Given the description of an element on the screen output the (x, y) to click on. 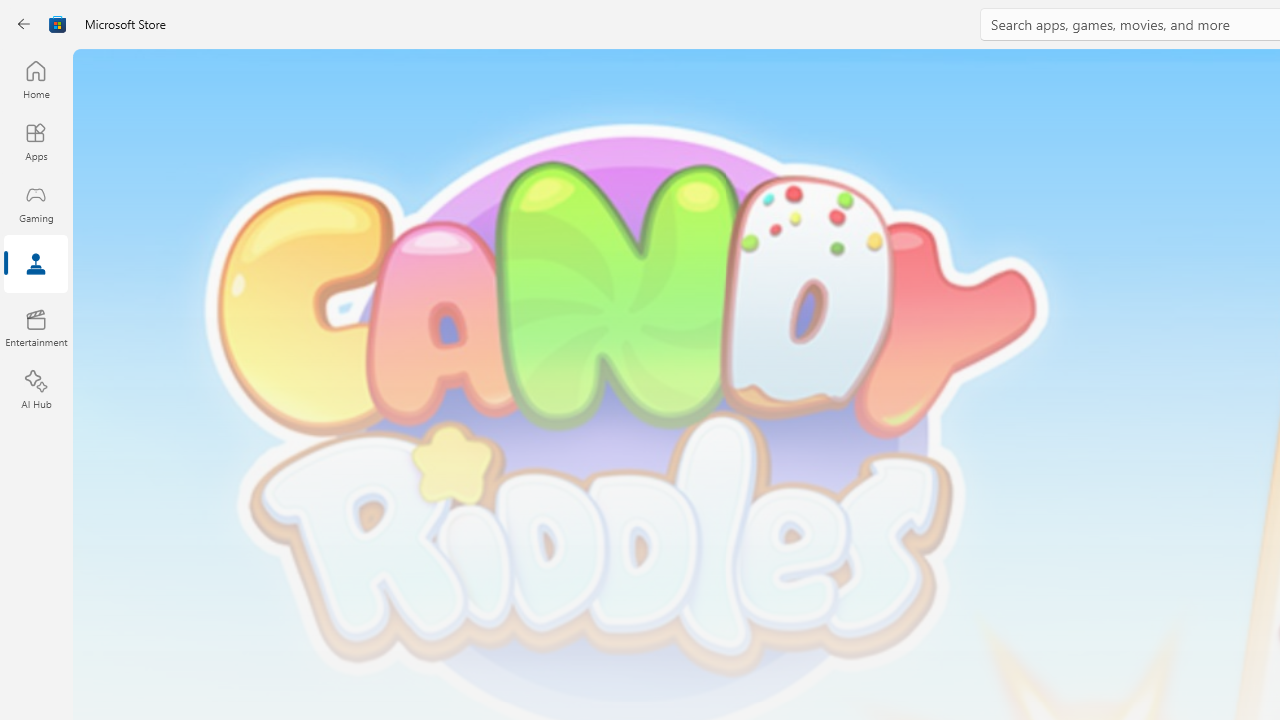
Home (35, 79)
Class: Image (27, 24)
Included with device (525, 277)
Entertainment (35, 327)
Apps (158, 273)
Games (267, 273)
Gaming (35, 203)
Movies & TV (381, 273)
Arcade (35, 327)
Apps (35, 141)
AI Hub (35, 390)
